Given the description of an element on the screen output the (x, y) to click on. 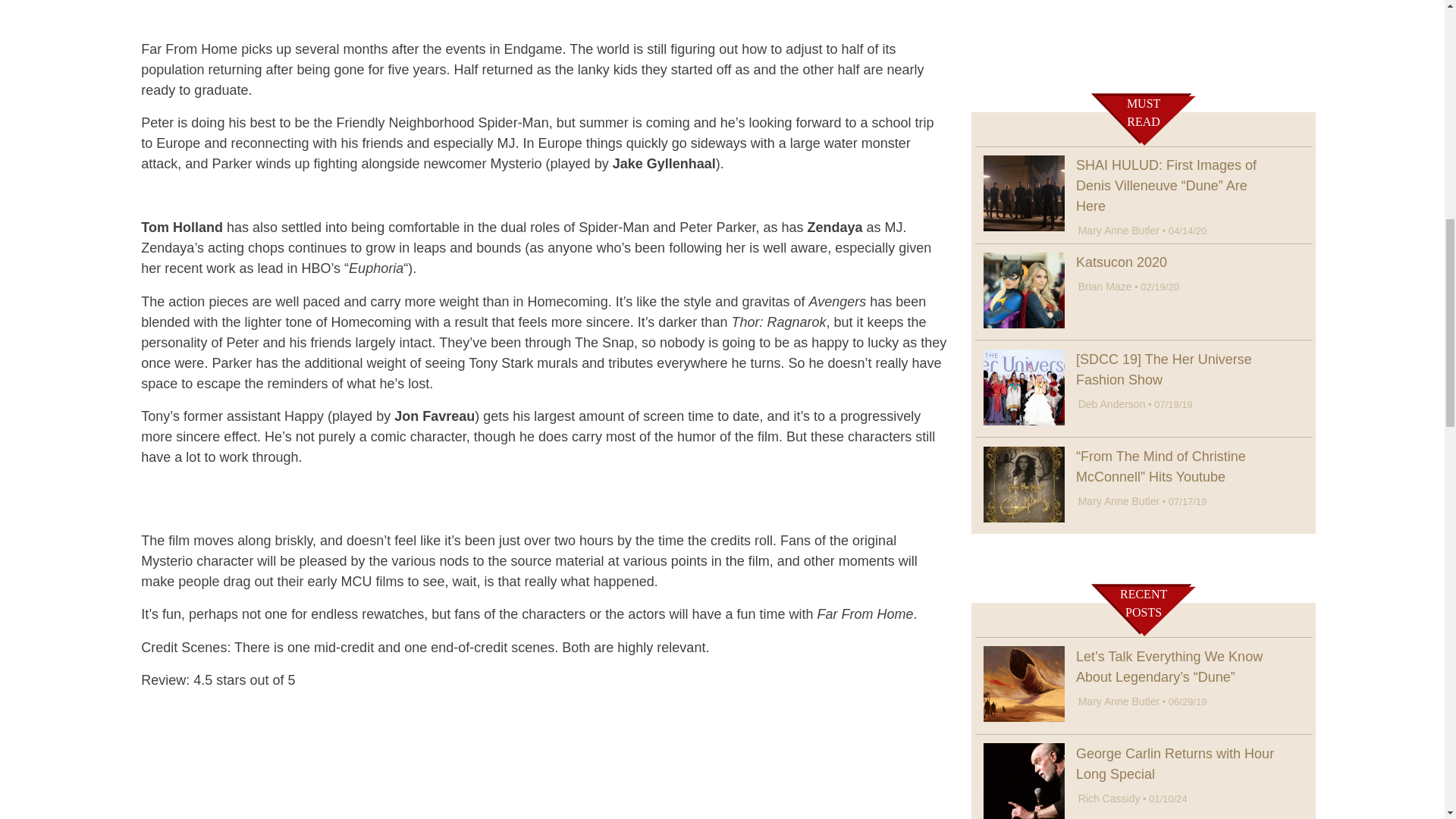
Advertisement (1143, 35)
